Given the description of an element on the screen output the (x, y) to click on. 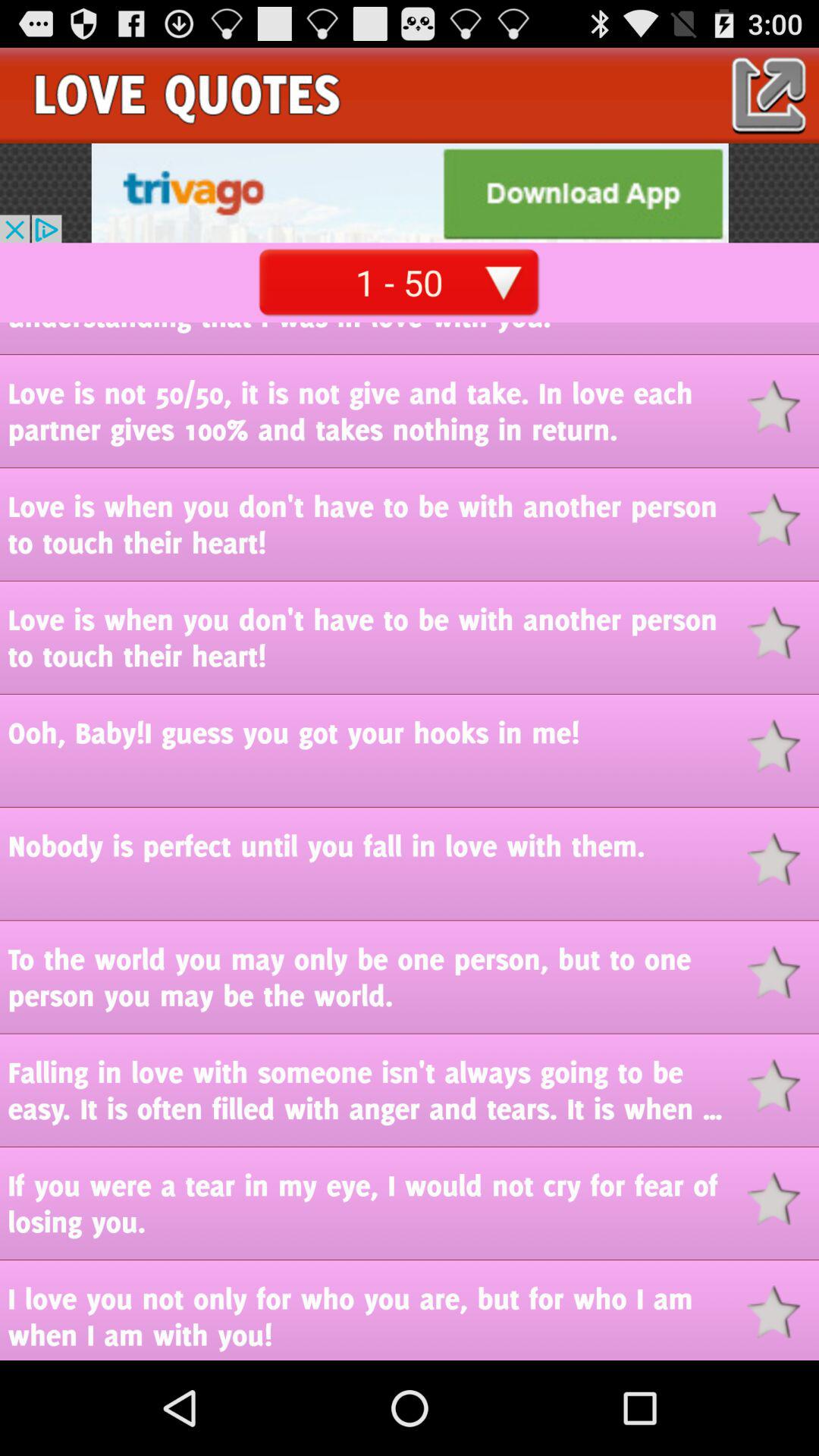
add to favorites (783, 1311)
